Given the description of an element on the screen output the (x, y) to click on. 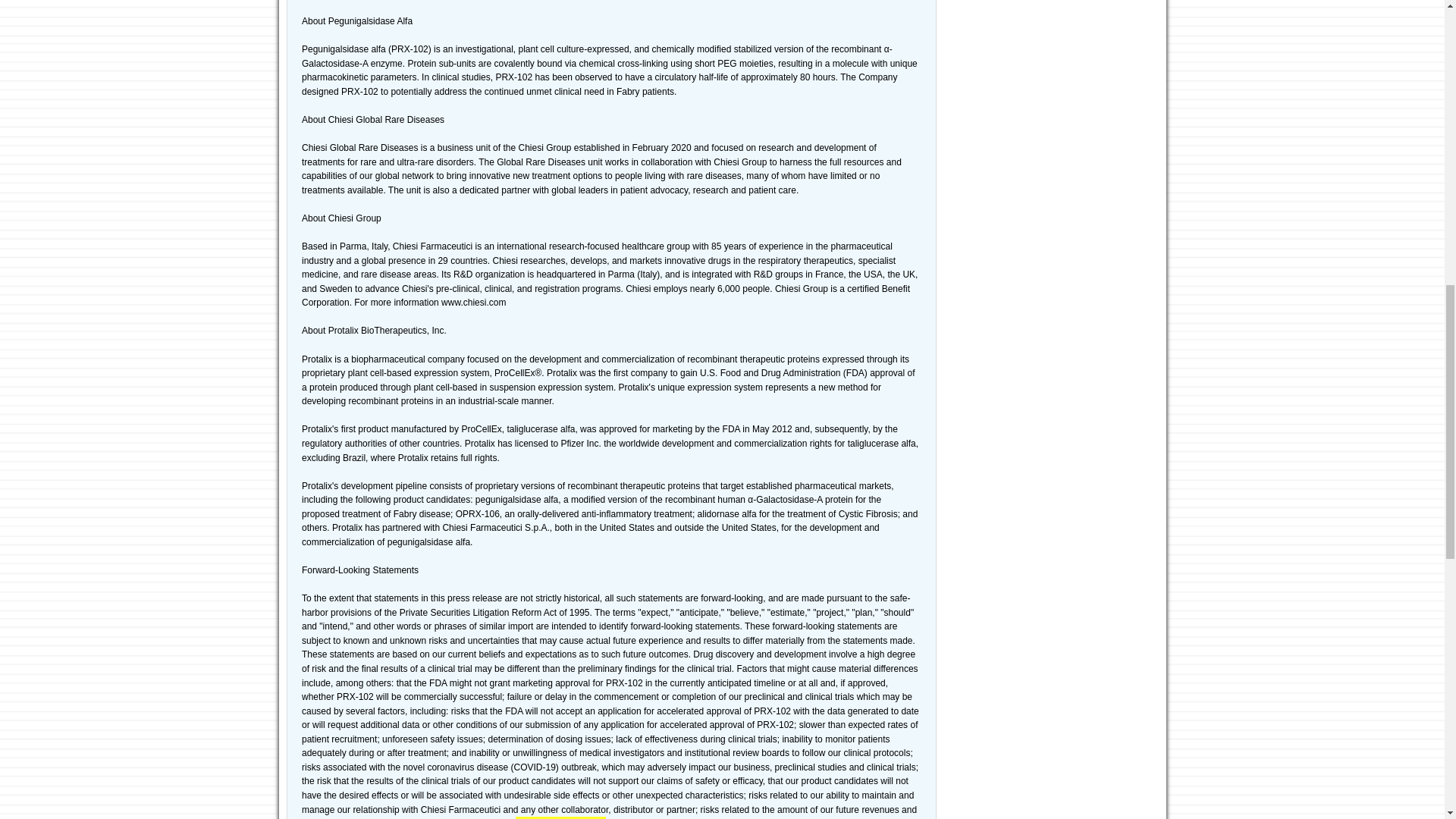
Advertisement (1054, 85)
